Given the description of an element on the screen output the (x, y) to click on. 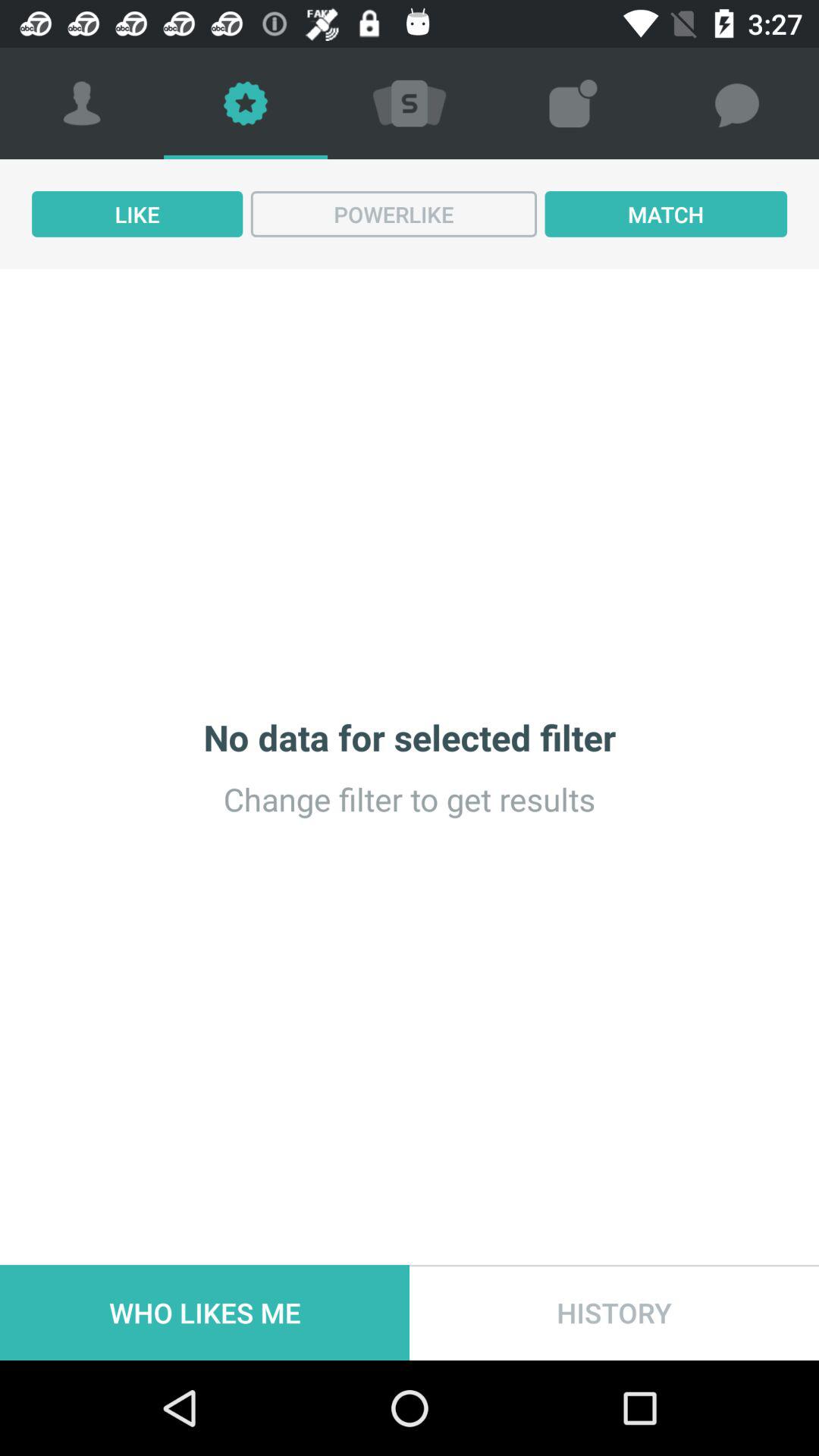
press who likes me item (204, 1312)
